Given the description of an element on the screen output the (x, y) to click on. 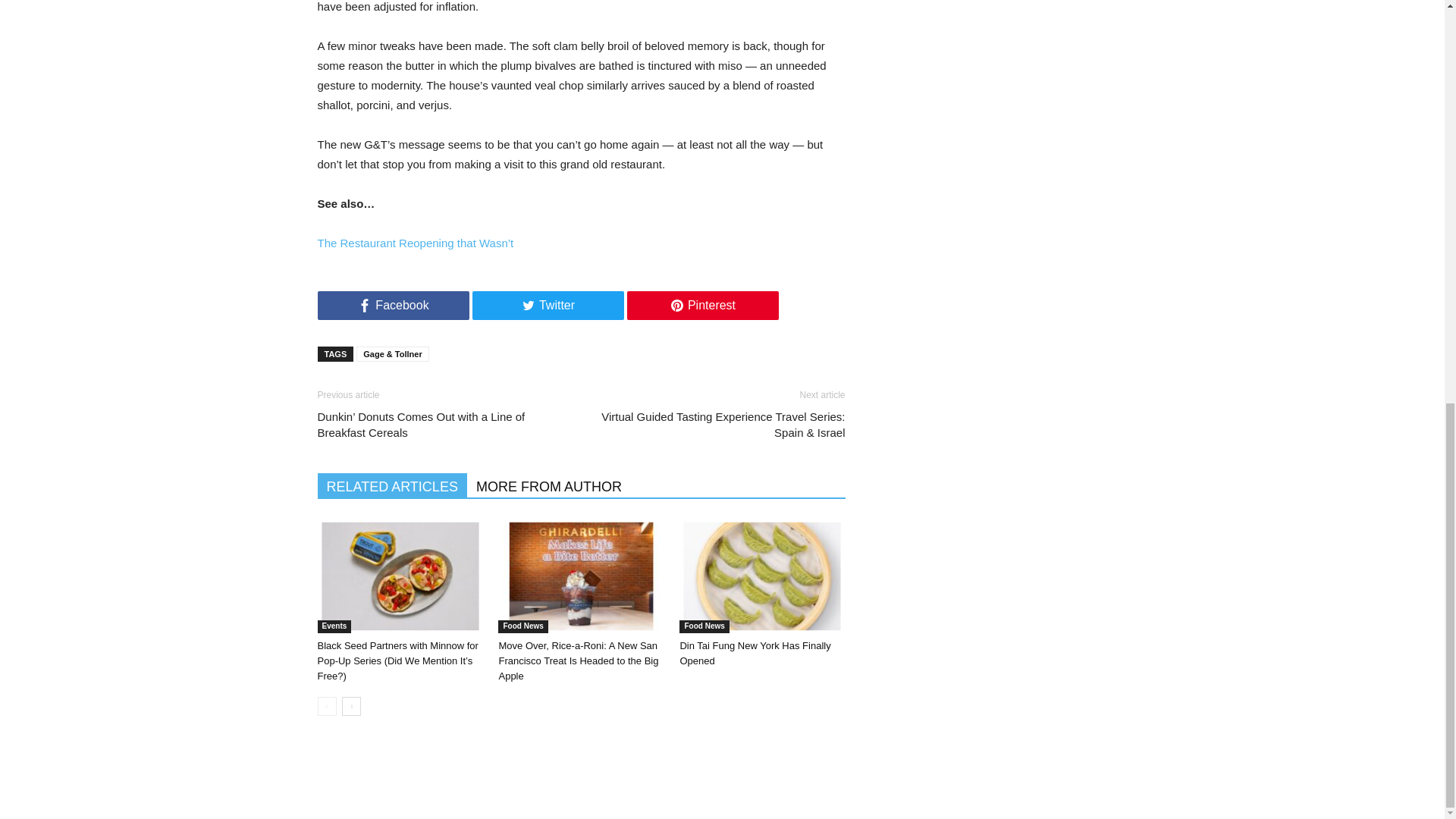
Din Tai Fung New York Has Finally Opened (766, 579)
Din Tai Fung New York Has Finally Opened (754, 652)
Din Tai Fung New York Has Finally Opened (761, 576)
Twitter (547, 305)
Pinterest (701, 305)
Facebook (392, 305)
